Given the description of an element on the screen output the (x, y) to click on. 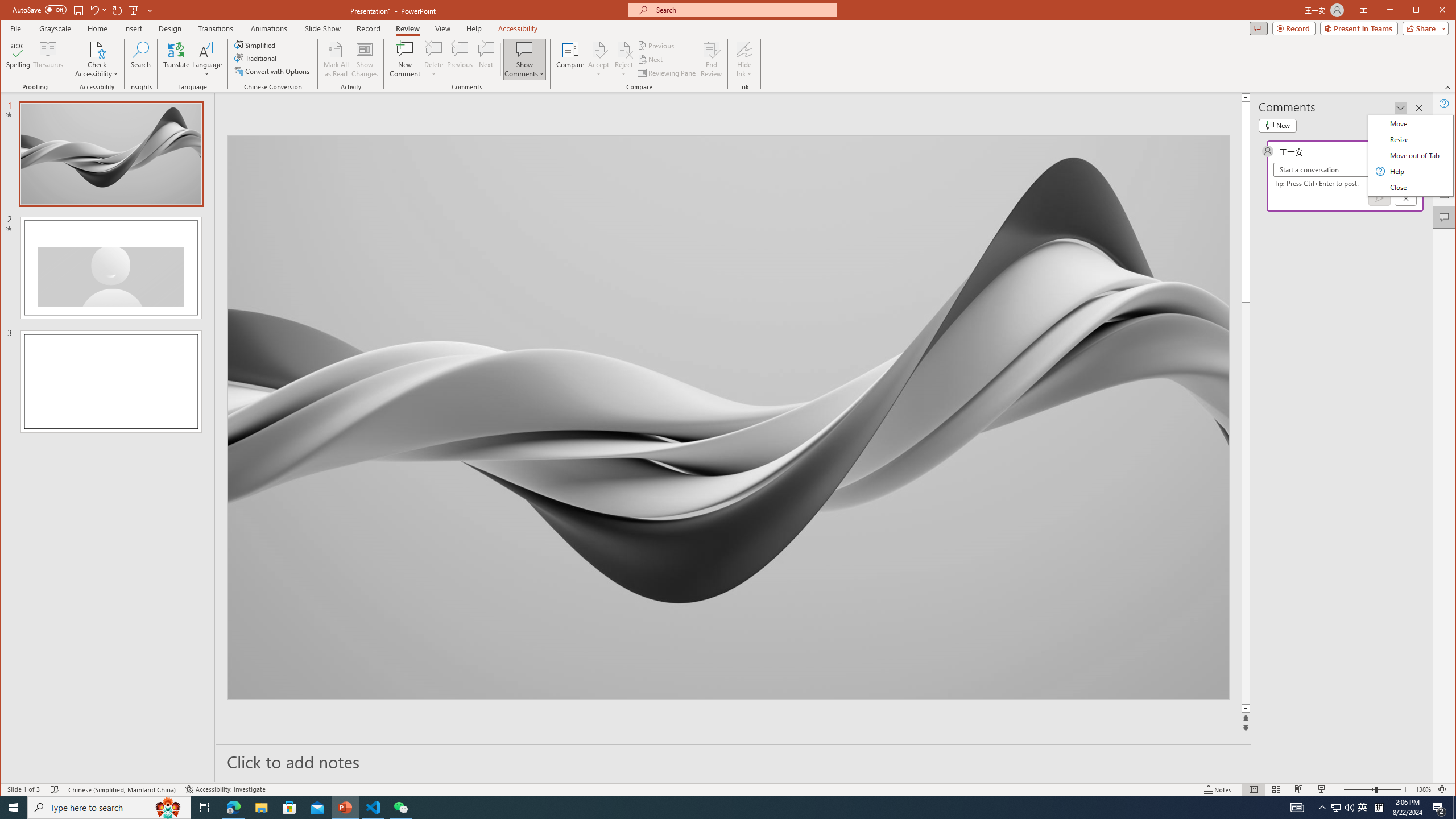
Compare (569, 59)
Notification Chevron (1322, 807)
More Options (744, 69)
Reject Change (623, 48)
Reject (623, 59)
Grayscale (55, 28)
Hide Ink (744, 48)
Comments (1444, 216)
Thesaurus... (48, 59)
Zoom In (1405, 789)
From Beginning (133, 9)
System (10, 10)
Ribbon Display Options (1364, 9)
